Given the description of an element on the screen output the (x, y) to click on. 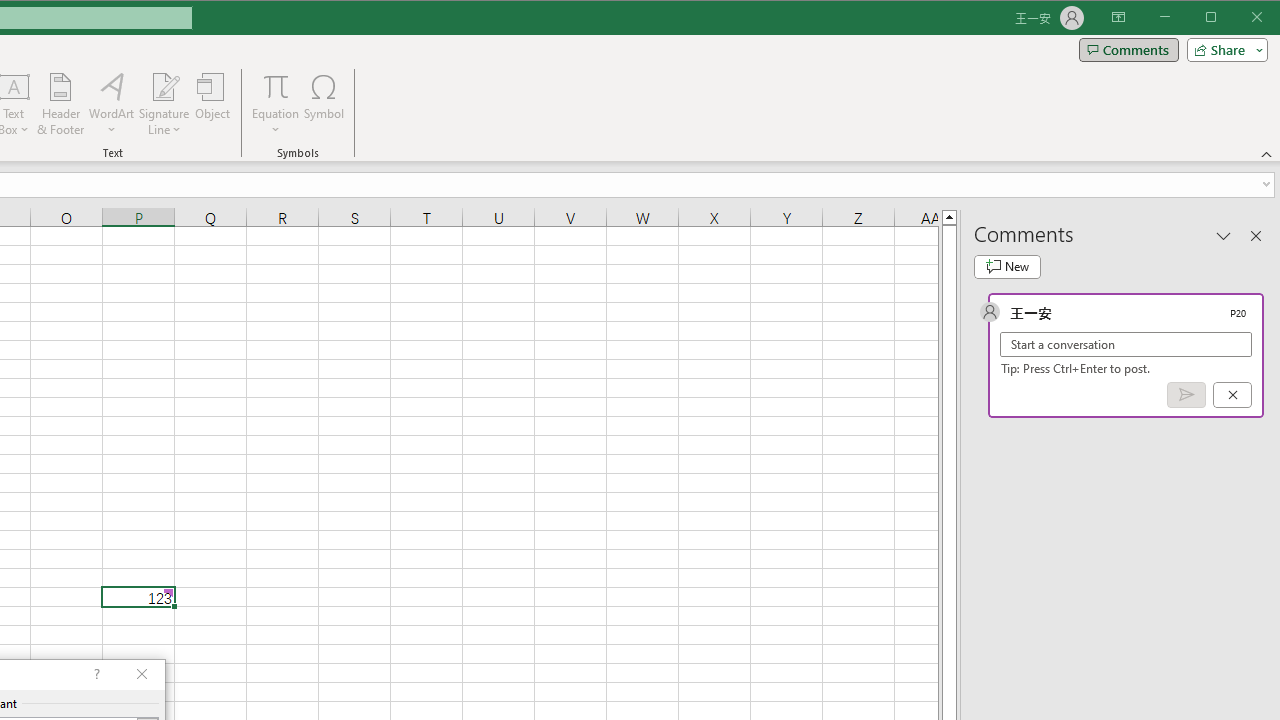
WordArt (111, 104)
Post comment (Ctrl + Enter) (1186, 395)
Signature Line (164, 86)
Signature Line (164, 104)
New comment (1007, 266)
Start a conversation (1126, 344)
Cancel (1232, 395)
Header & Footer... (60, 104)
Symbol... (324, 104)
